Given the description of an element on the screen output the (x, y) to click on. 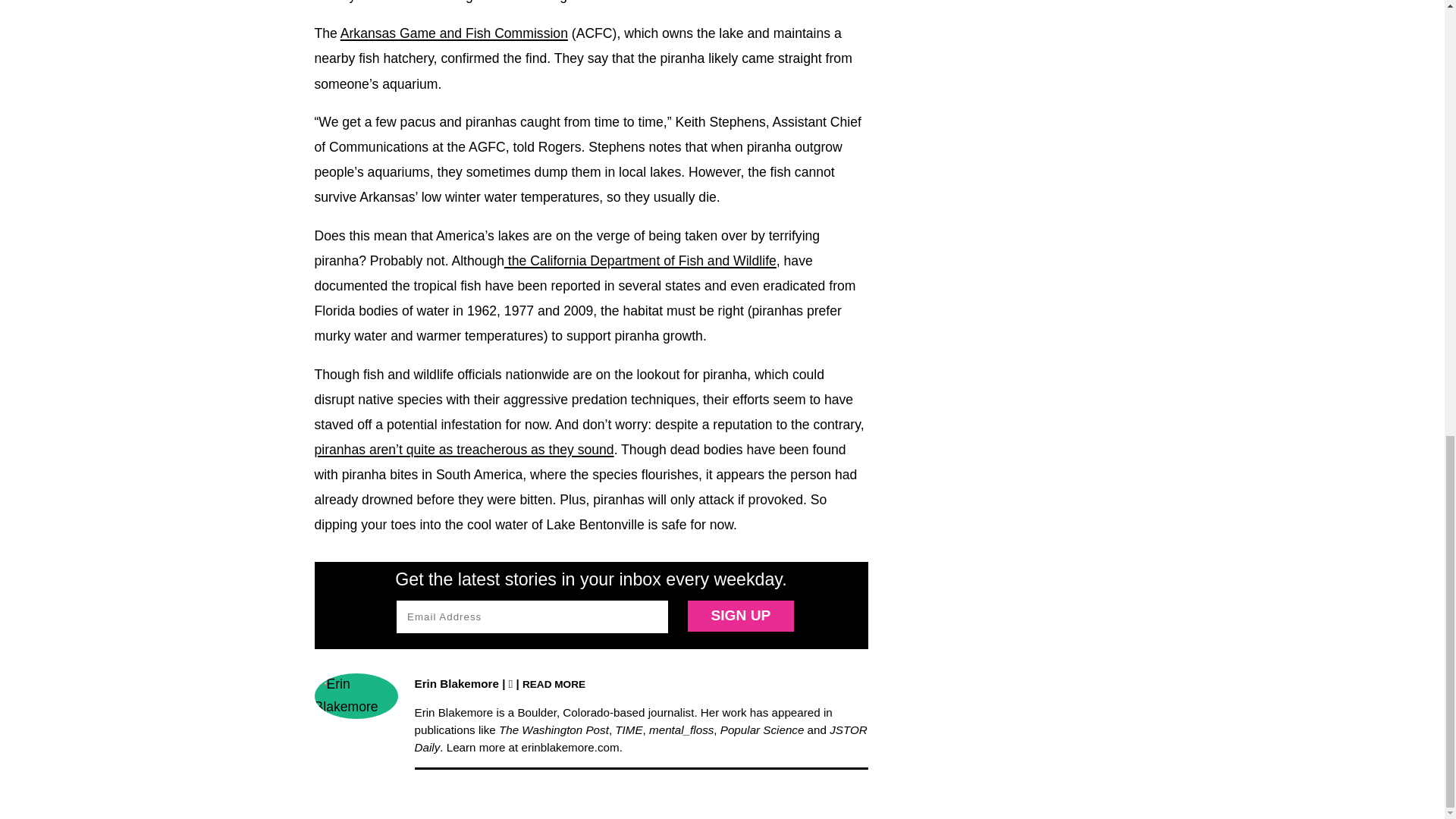
Sign Up (740, 615)
Read more from this author (553, 683)
